Given the description of an element on the screen output the (x, y) to click on. 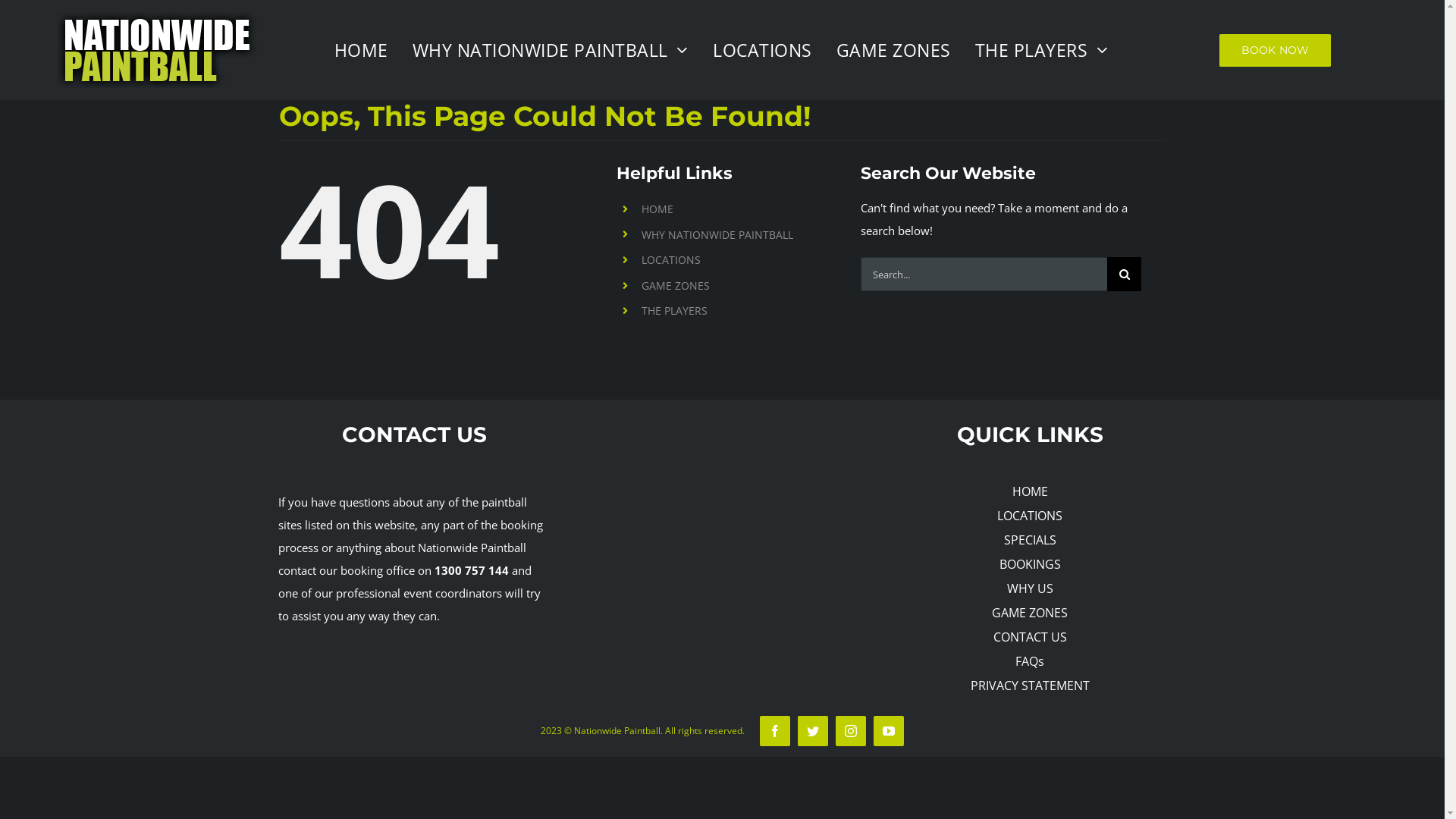
HOME Element type: text (657, 208)
PRIVACY STATEMENT Element type: text (1030, 685)
WHY NATIONWIDE PAINTBALL Element type: text (551, 49)
WHY NATIONWIDE PAINTBALL Element type: text (717, 234)
THE PLAYERS Element type: text (674, 310)
BOOKINGS Element type: text (1030, 564)
HOME Element type: text (1030, 491)
WHY US Element type: text (1030, 588)
LOCATIONS Element type: text (763, 49)
GAME ZONES Element type: text (894, 49)
LOCATIONS Element type: text (670, 259)
GAME ZONES Element type: text (675, 285)
GAME ZONES Element type: text (1030, 612)
HOME Element type: text (362, 49)
FAQs Element type: text (1030, 661)
CONTACT US Element type: text (1030, 636)
BOOK NOW Element type: text (1275, 49)
SPECIALS Element type: text (1030, 539)
THE PLAYERS Element type: text (1042, 49)
LOCATIONS Element type: text (1030, 515)
